Given the description of an element on the screen output the (x, y) to click on. 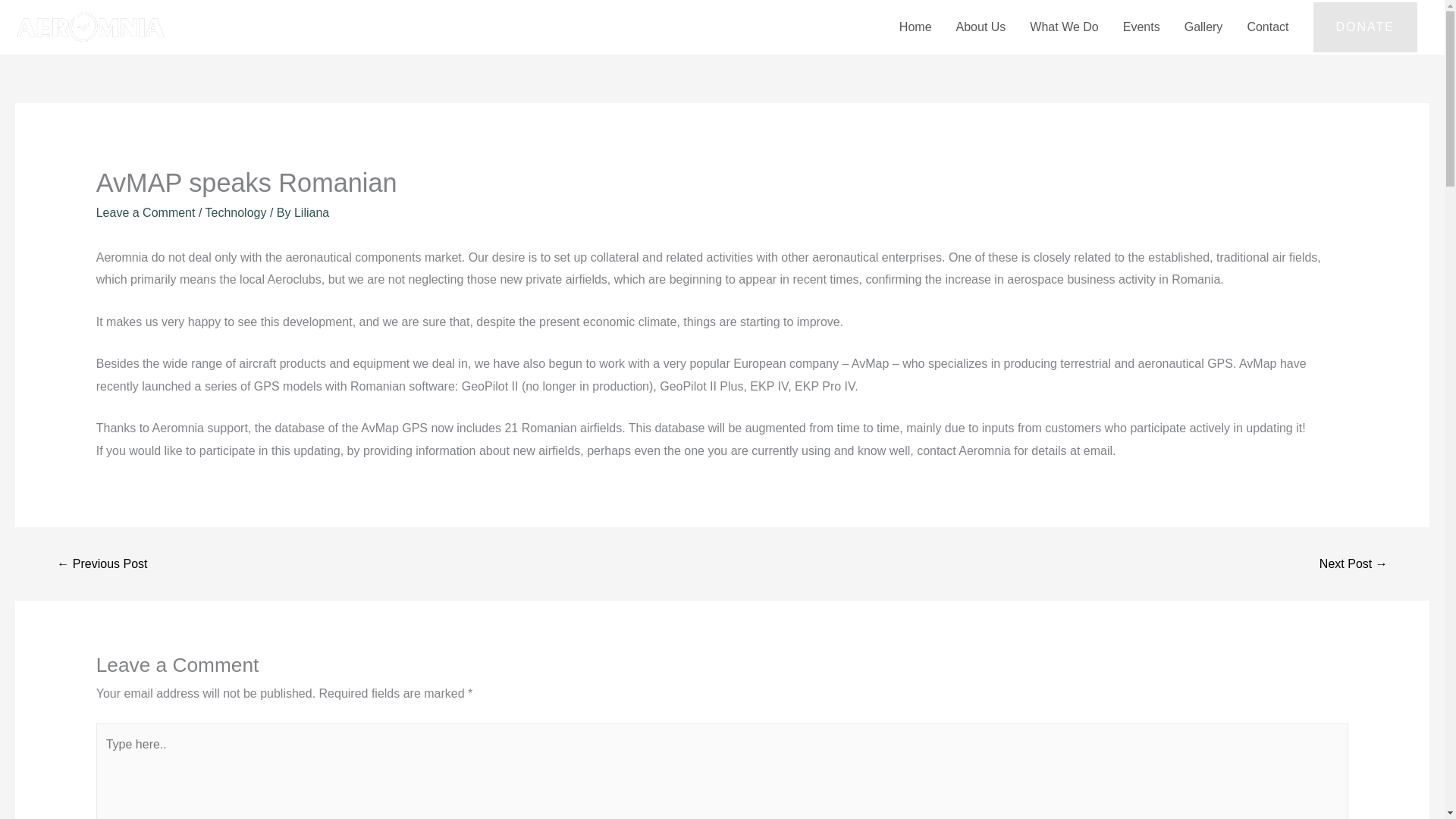
About Us (980, 27)
DONATE (1364, 27)
View all posts by Liliana (311, 212)
Liliana (311, 212)
Home (914, 27)
What We Do (1063, 27)
Events (1141, 27)
Contact (1267, 27)
Leave a Comment (145, 212)
Technology (235, 212)
